Given the description of an element on the screen output the (x, y) to click on. 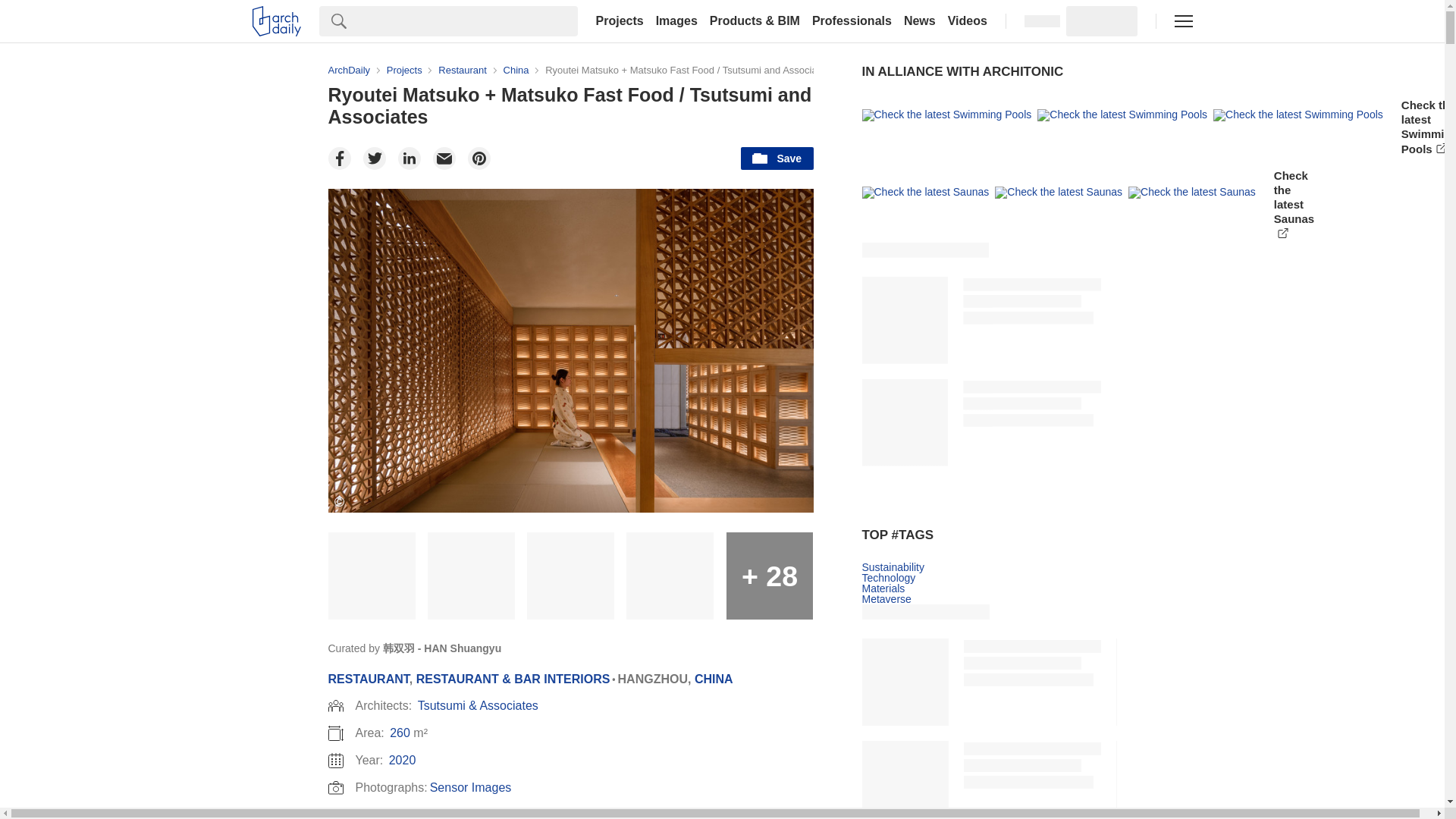
Images (676, 21)
News (920, 21)
Professionals (852, 21)
Videos (967, 21)
Projects (619, 21)
